Given the description of an element on the screen output the (x, y) to click on. 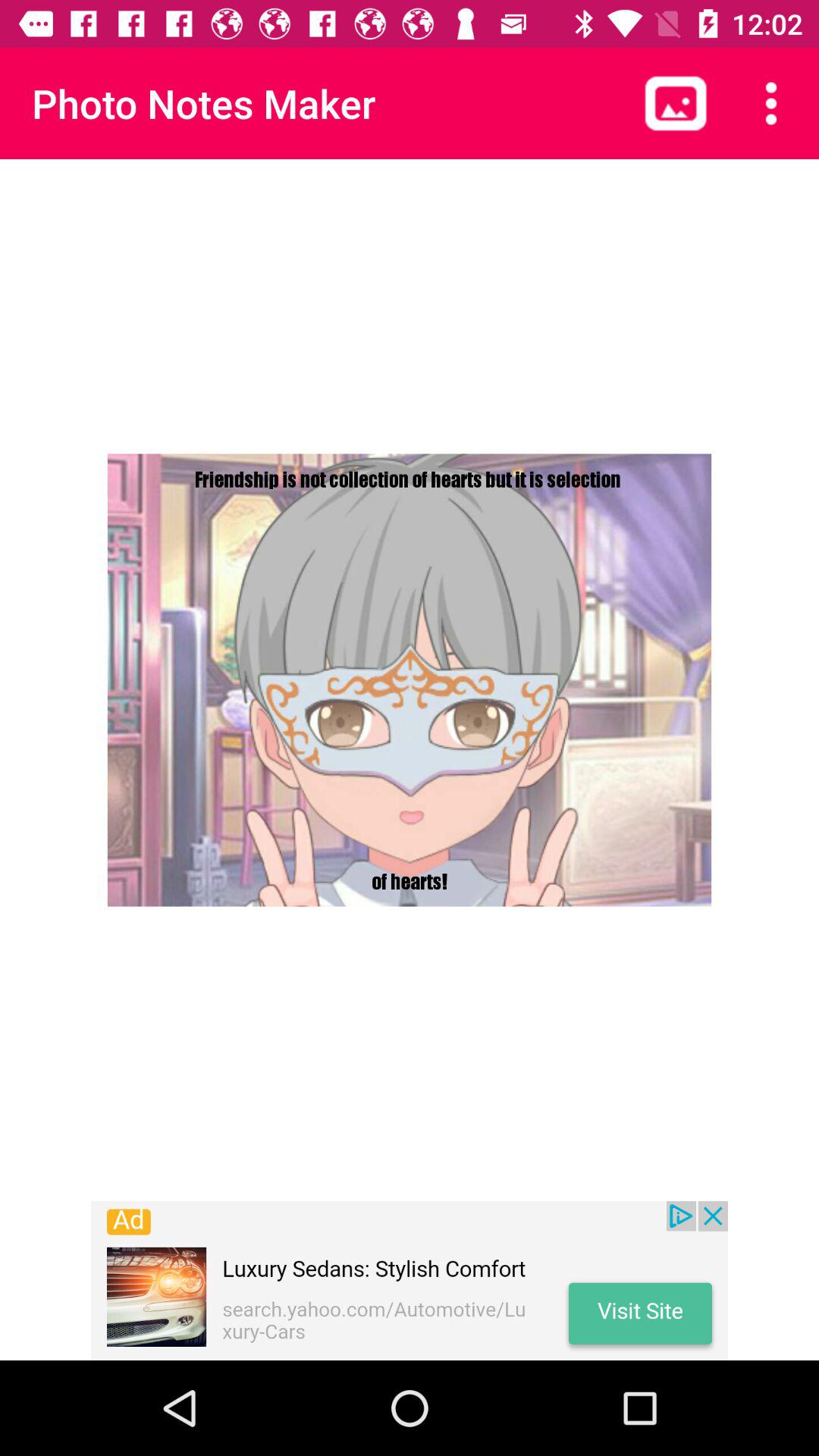
to add more photos to make (675, 103)
